Given the description of an element on the screen output the (x, y) to click on. 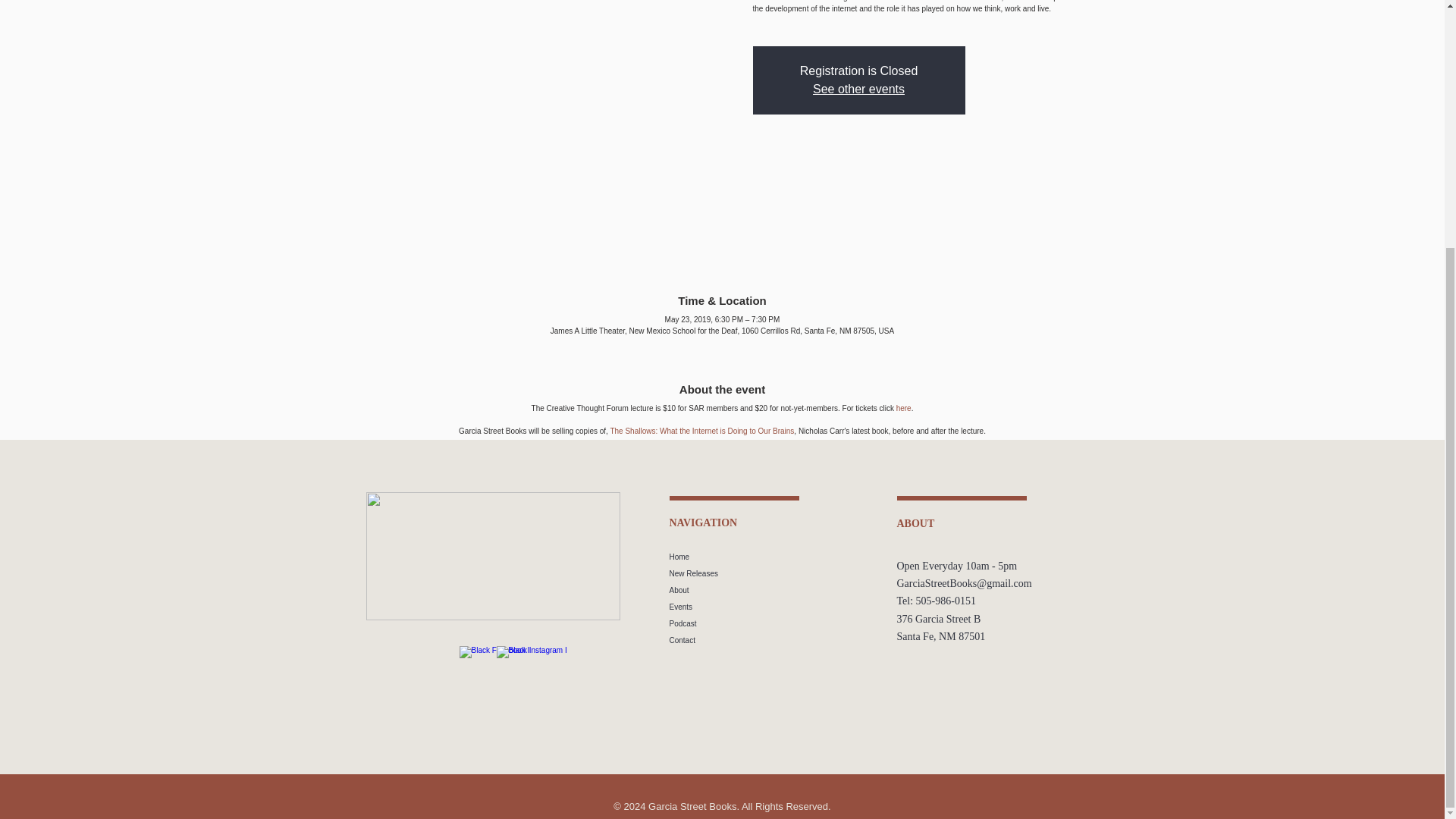
Contact (772, 640)
Events (772, 606)
Podcast (772, 623)
See other events (858, 88)
Home (772, 556)
here (903, 407)
New Releases (772, 573)
The Shallows: What the Internet is Doing to Our Brains (701, 429)
About (772, 590)
